Given the description of an element on the screen output the (x, y) to click on. 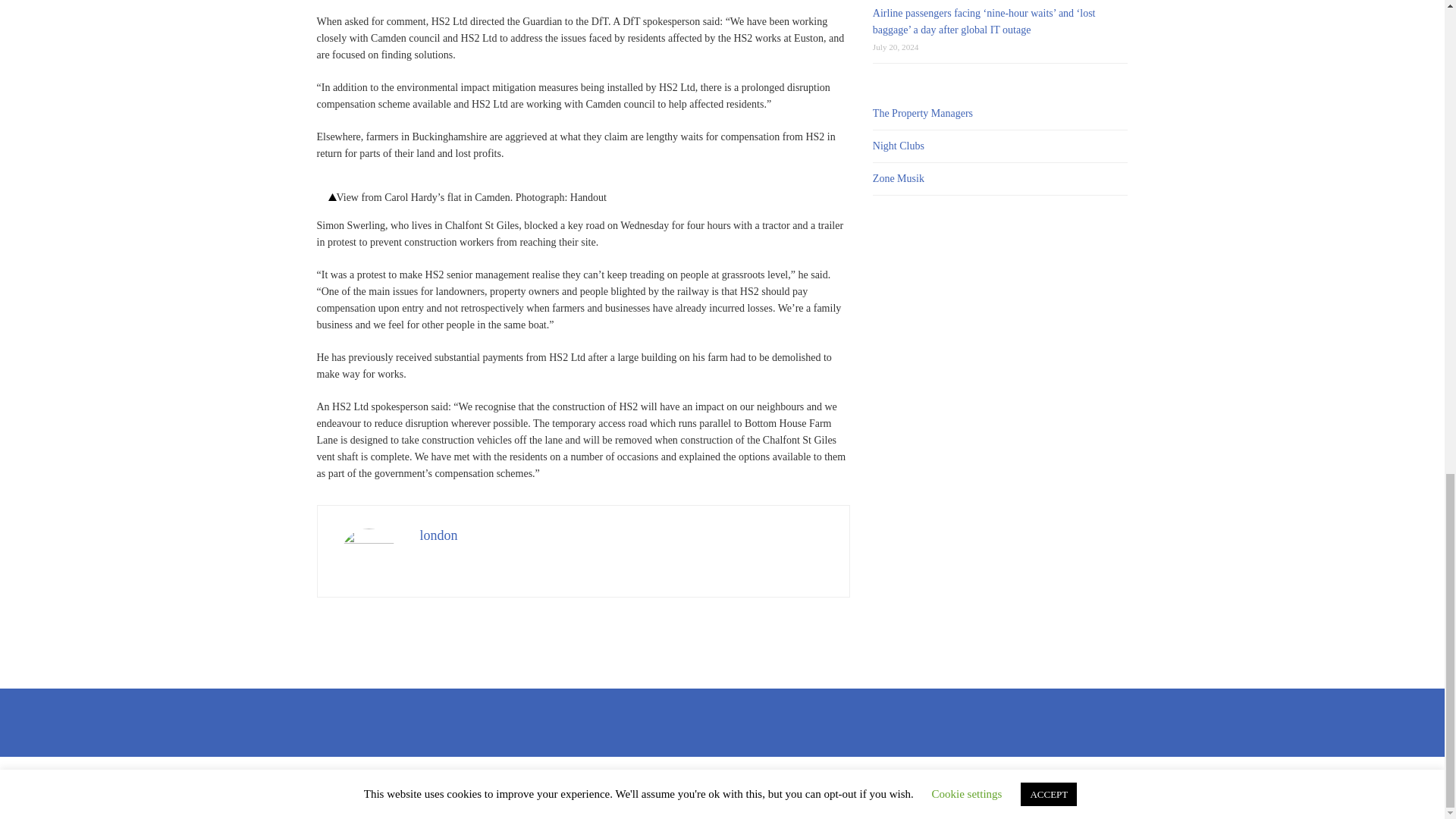
Night Clubs (898, 145)
The Property Managers (922, 112)
Zone Musik (898, 178)
london (439, 534)
